Given the description of an element on the screen output the (x, y) to click on. 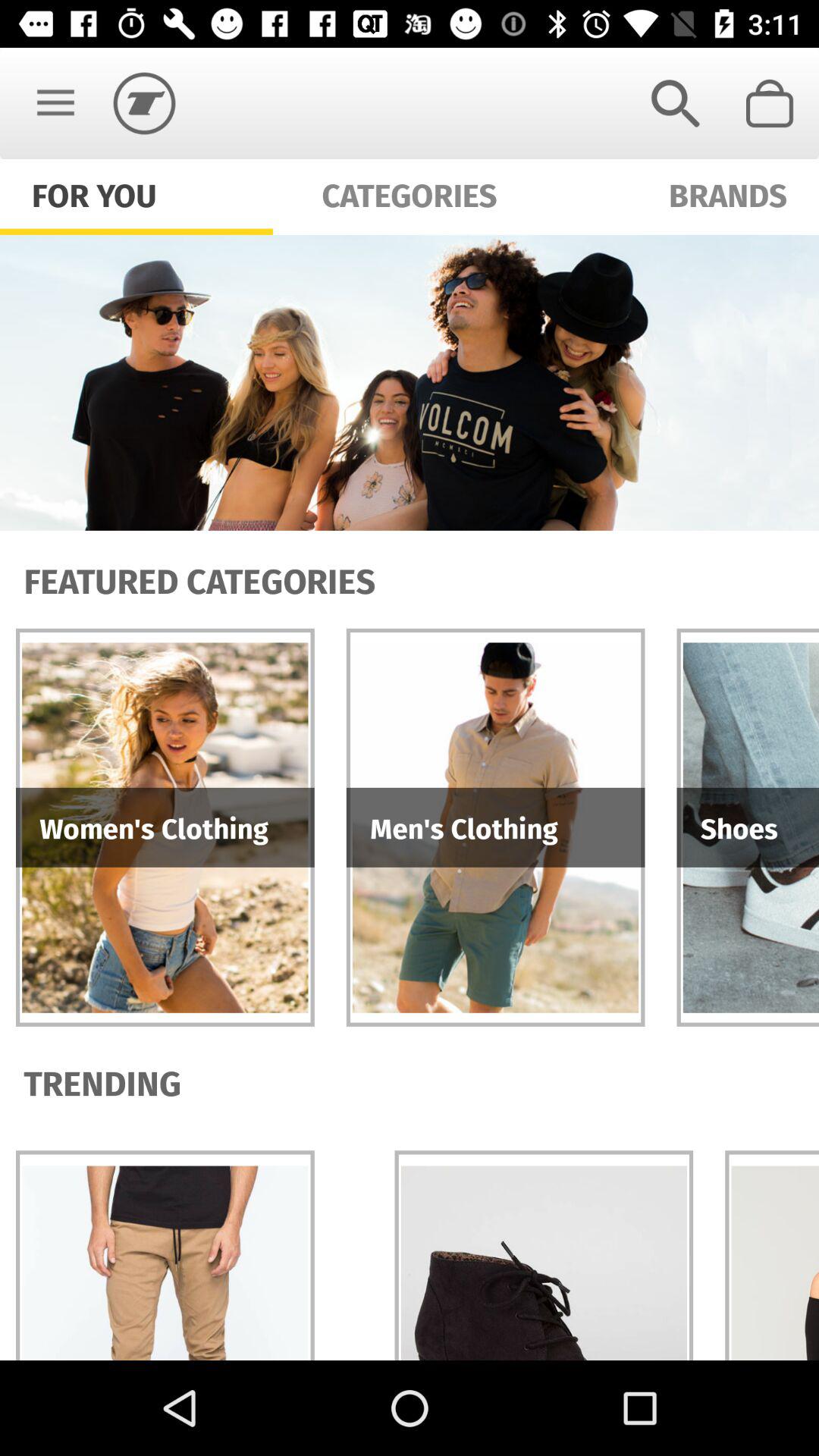
launch for you item (93, 193)
